Given the description of an element on the screen output the (x, y) to click on. 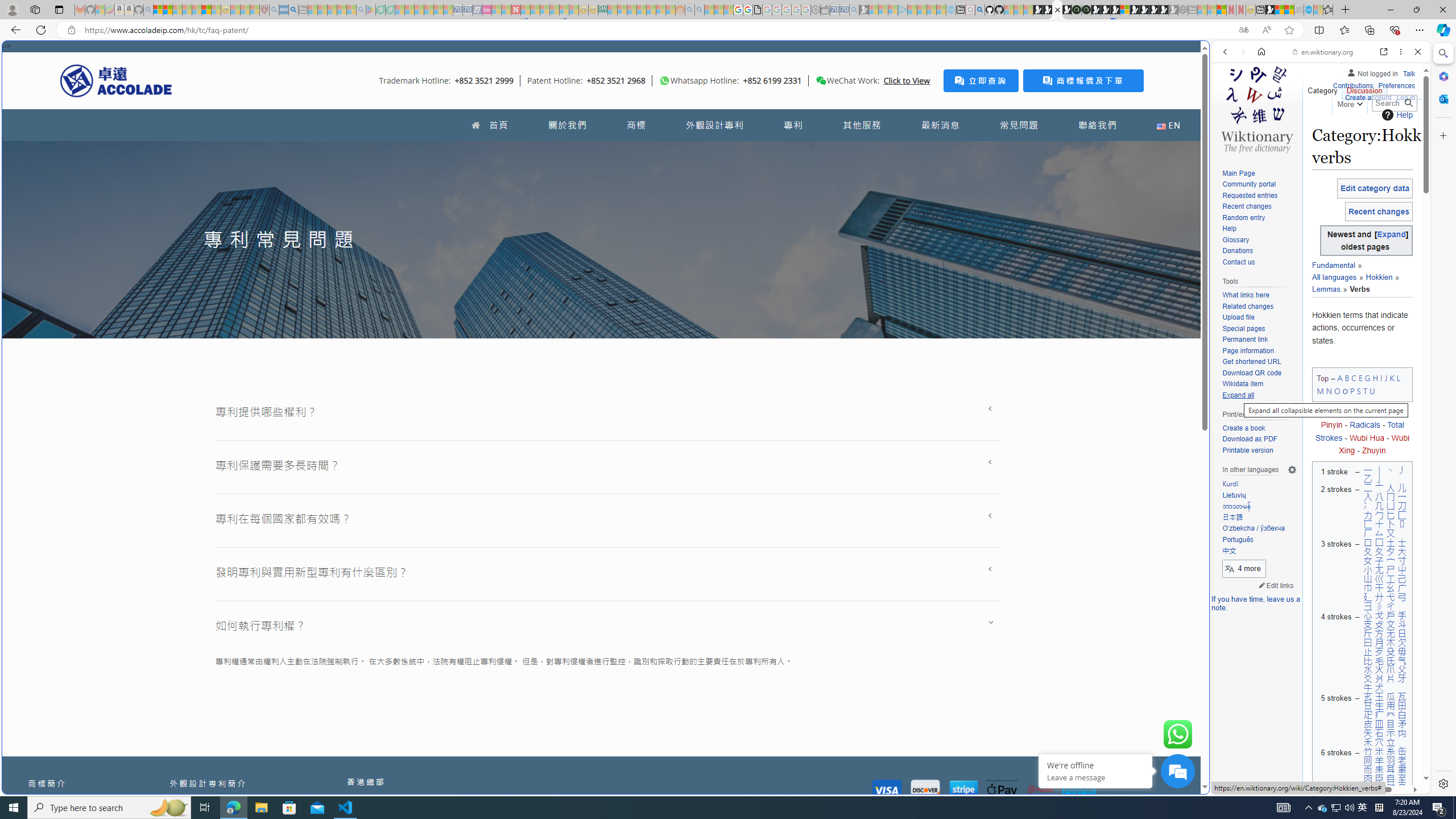
H (1375, 378)
1 stroke (1334, 474)
Recent changes (1246, 206)
Glossary (1235, 239)
